Given the description of an element on the screen output the (x, y) to click on. 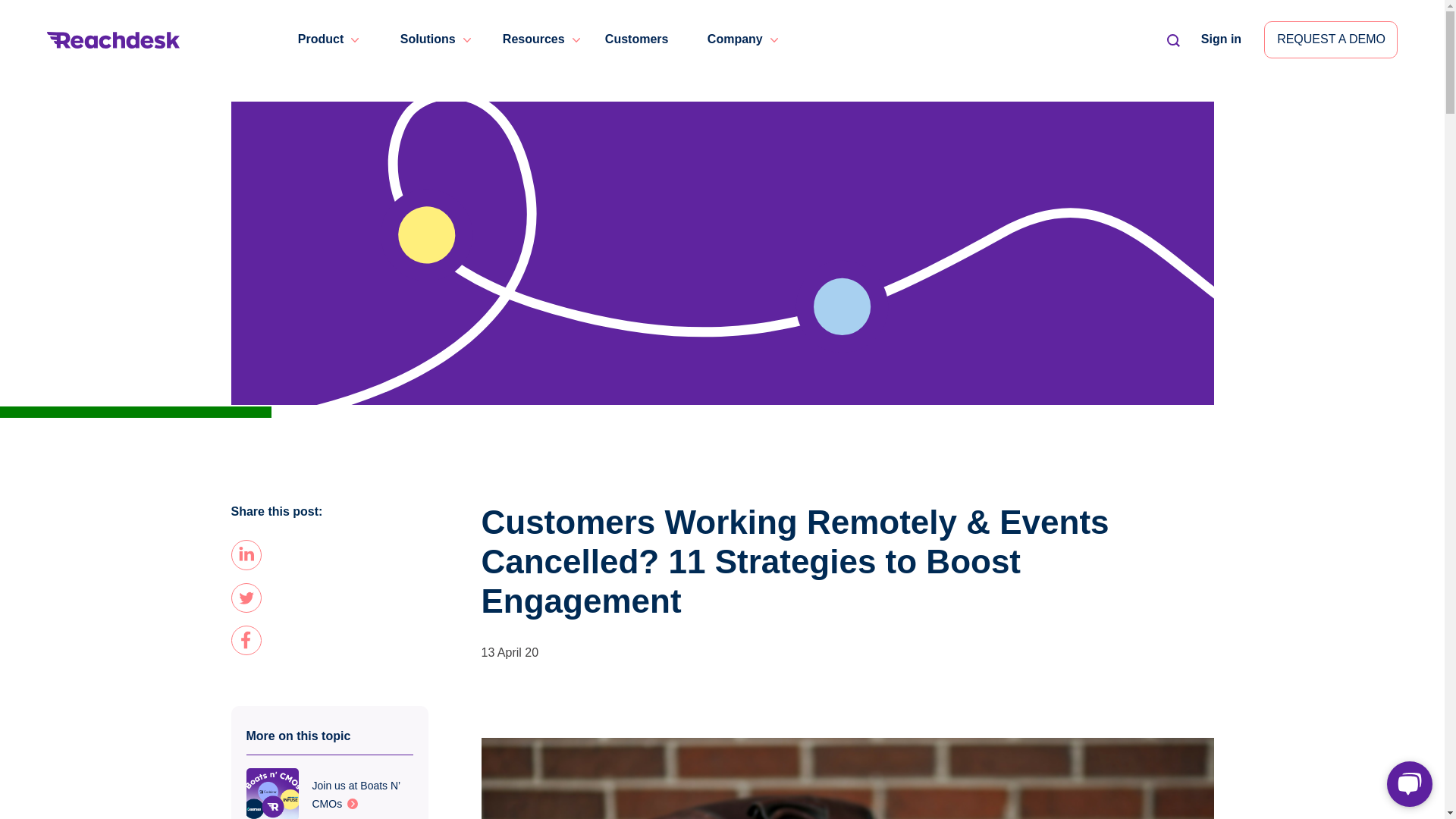
Product (320, 39)
Solutions (427, 39)
Resources (533, 39)
